Given the description of an element on the screen output the (x, y) to click on. 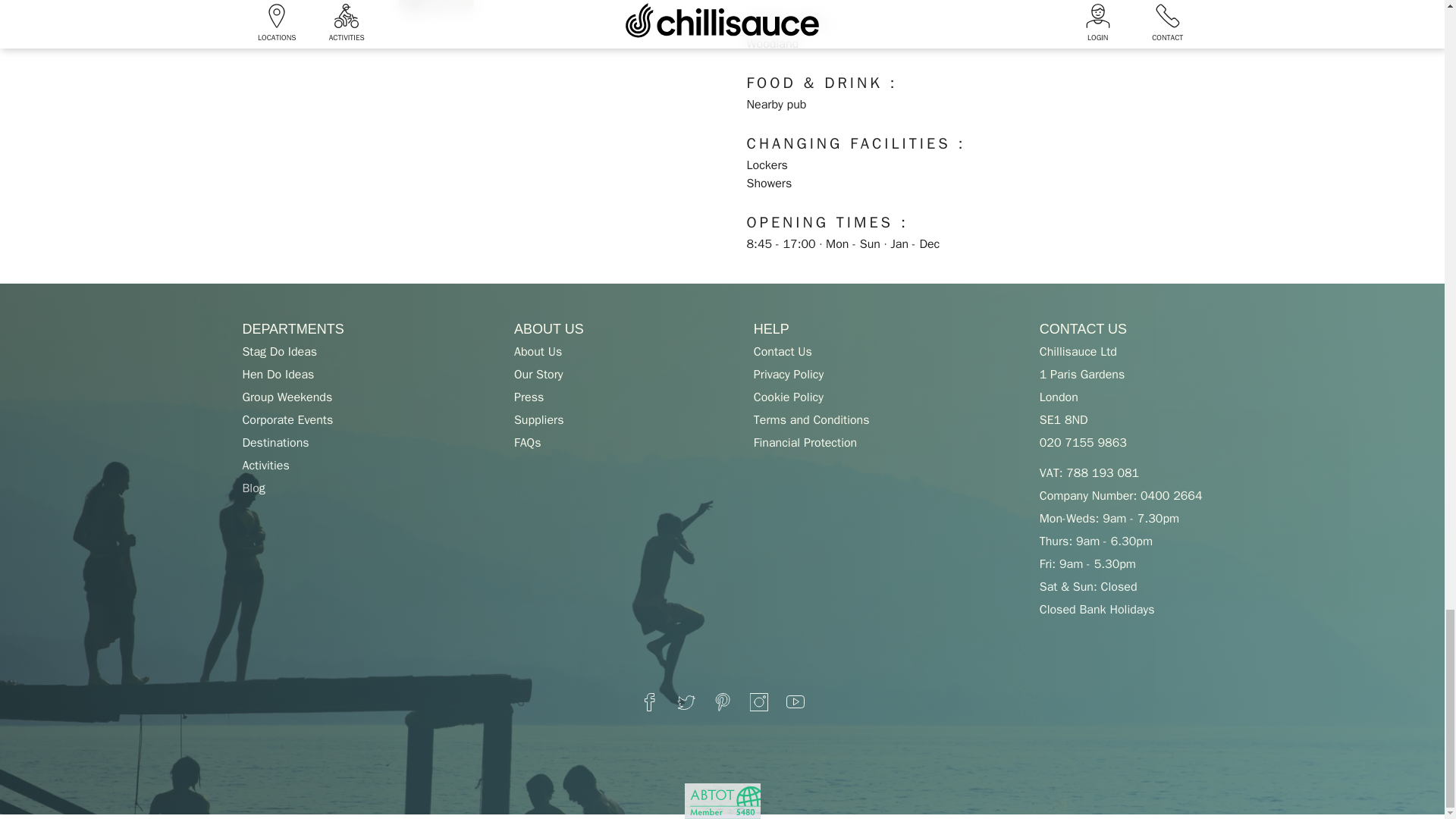
Terms and Conditions (811, 419)
Blog (252, 488)
Destinations (274, 442)
Financial Protection (805, 442)
Stag Do Ideas (279, 351)
Contact Us (783, 351)
Privacy Policy (789, 374)
Our Story (538, 374)
Suppliers (538, 419)
Group Weekends (286, 396)
